Given the description of an element on the screen output the (x, y) to click on. 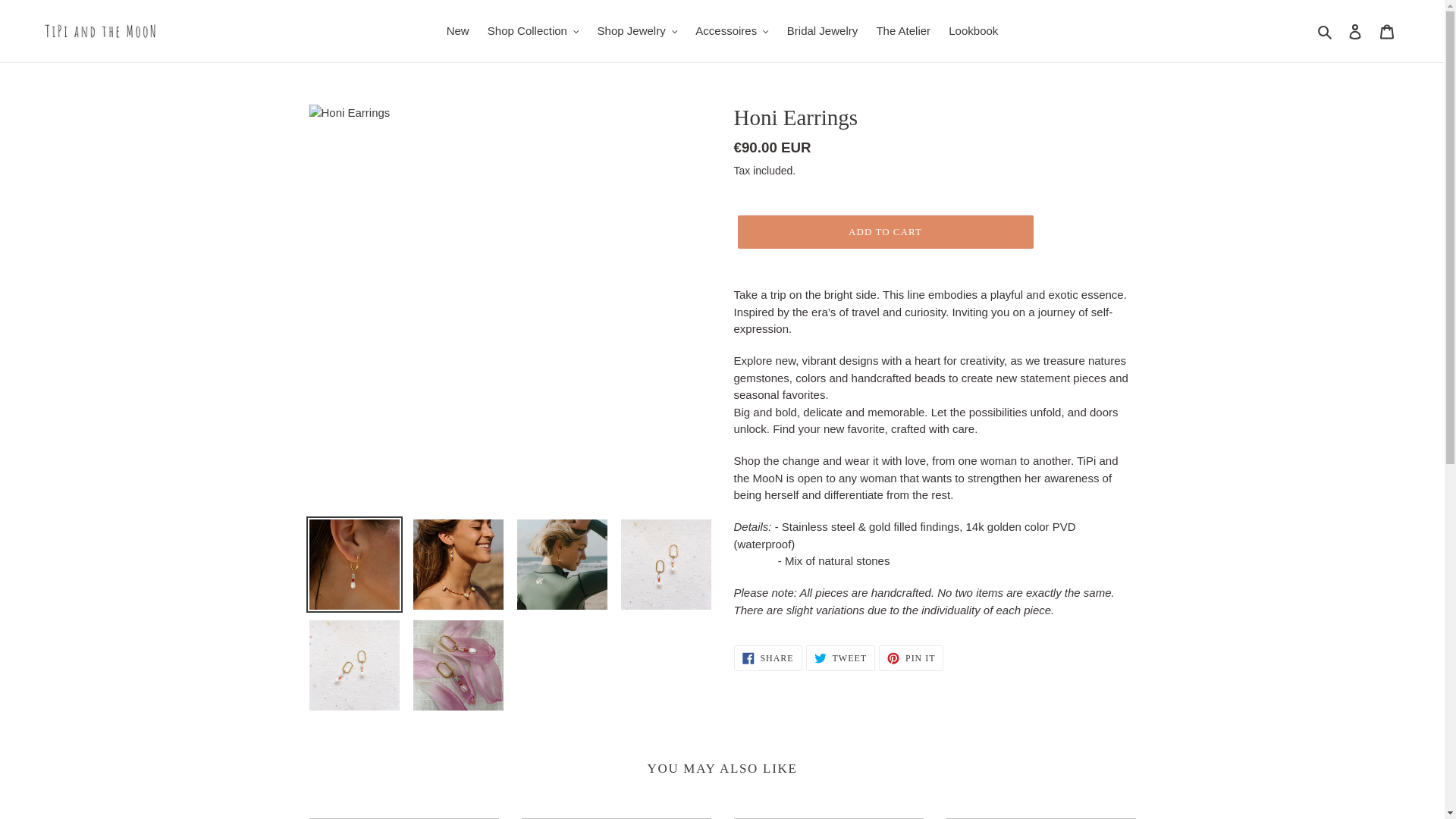
Cart (1387, 31)
Search (1326, 31)
Shop Jewelry (637, 31)
The Atelier (902, 31)
Lookbook (973, 31)
New (458, 31)
Bridal Jewelry (821, 31)
Shop Collection (533, 31)
Log in (1355, 31)
Accessoires (731, 31)
